Given the description of an element on the screen output the (x, y) to click on. 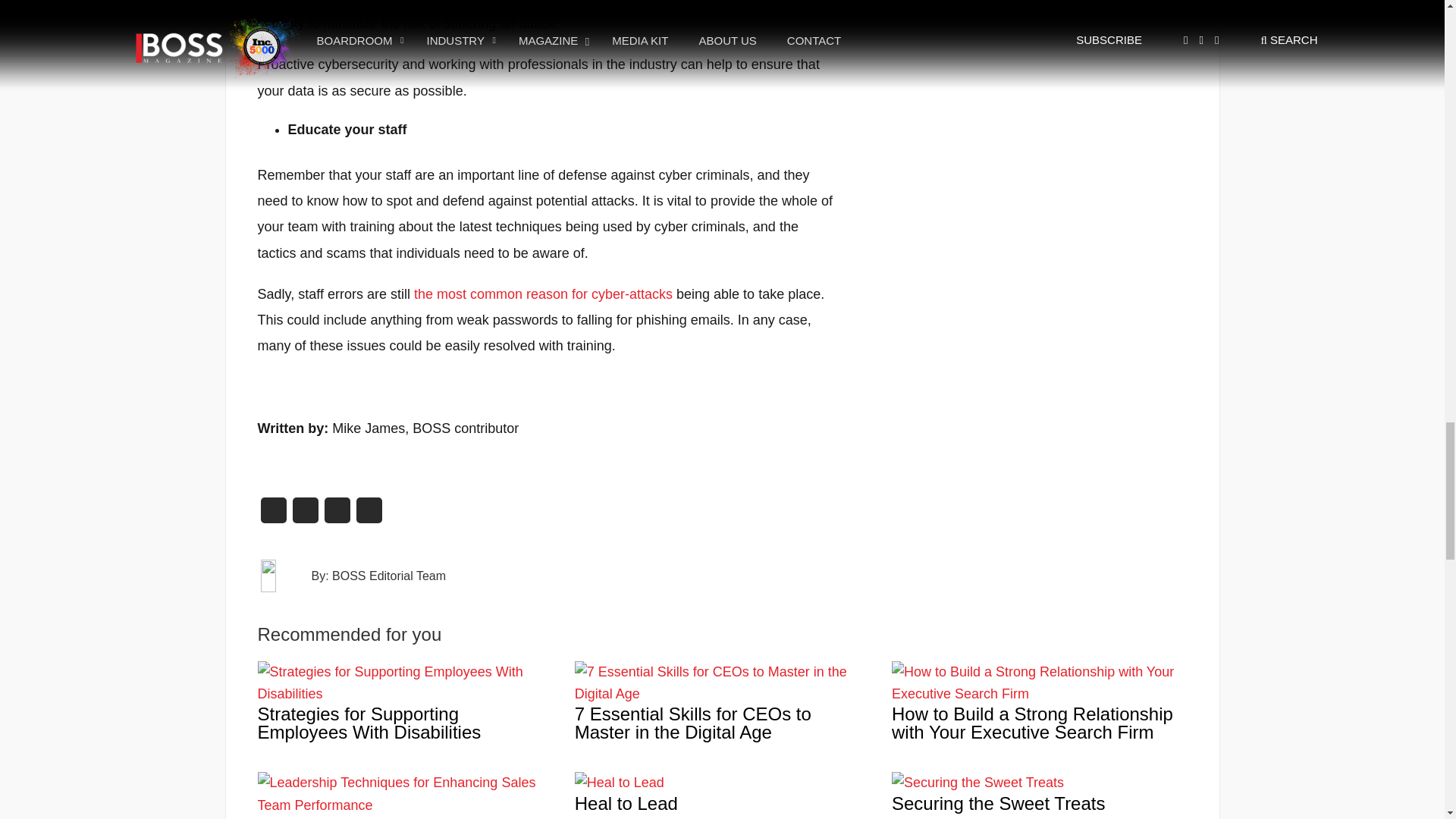
Facebook (337, 514)
Twitter (273, 514)
LinkedIn (305, 514)
